Given the description of an element on the screen output the (x, y) to click on. 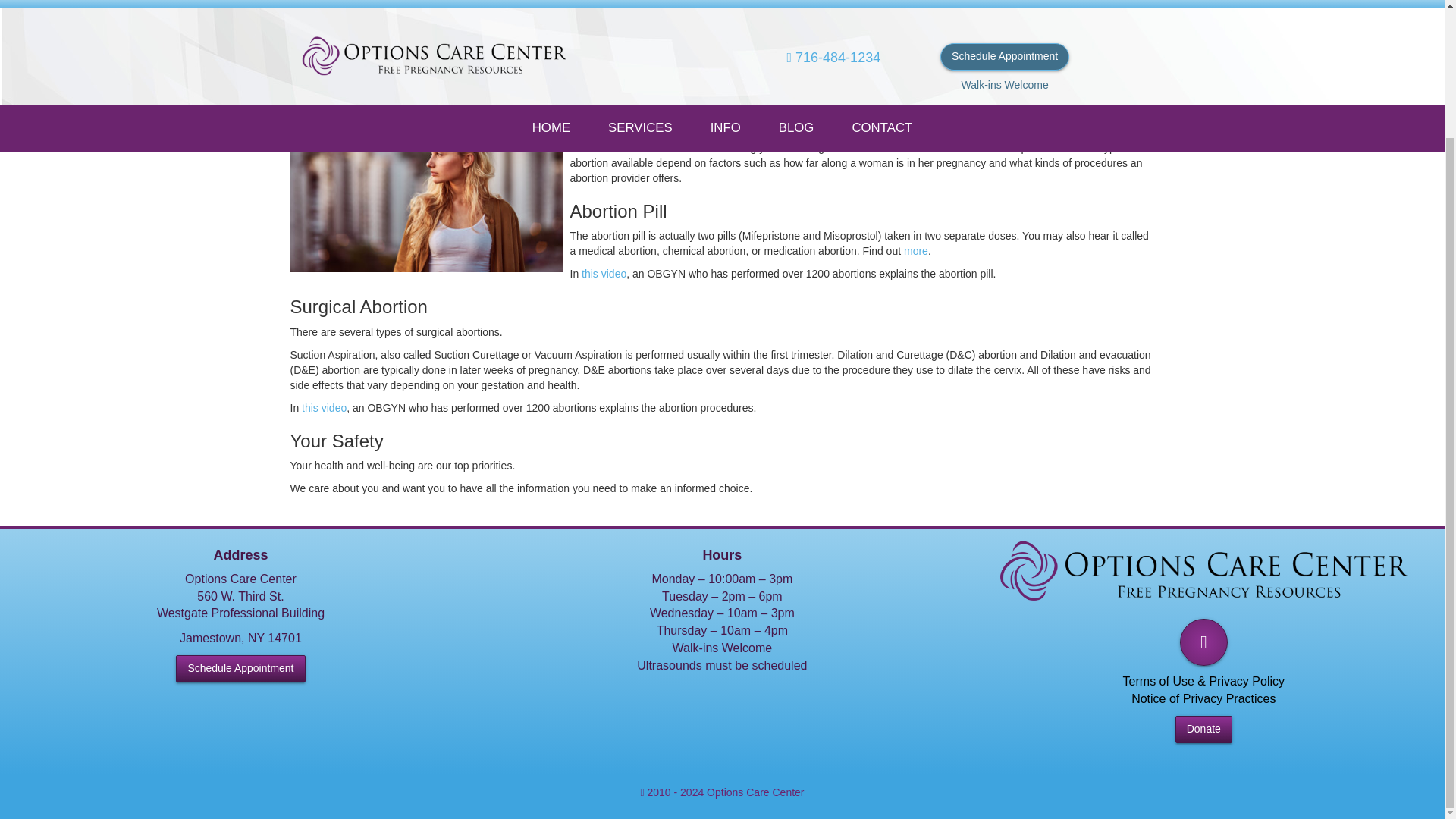
Notice of Privacy Practices (1203, 698)
Donate (1202, 728)
this video (603, 273)
this video (323, 408)
Schedule Appointment (240, 668)
more (916, 250)
